Given the description of an element on the screen output the (x, y) to click on. 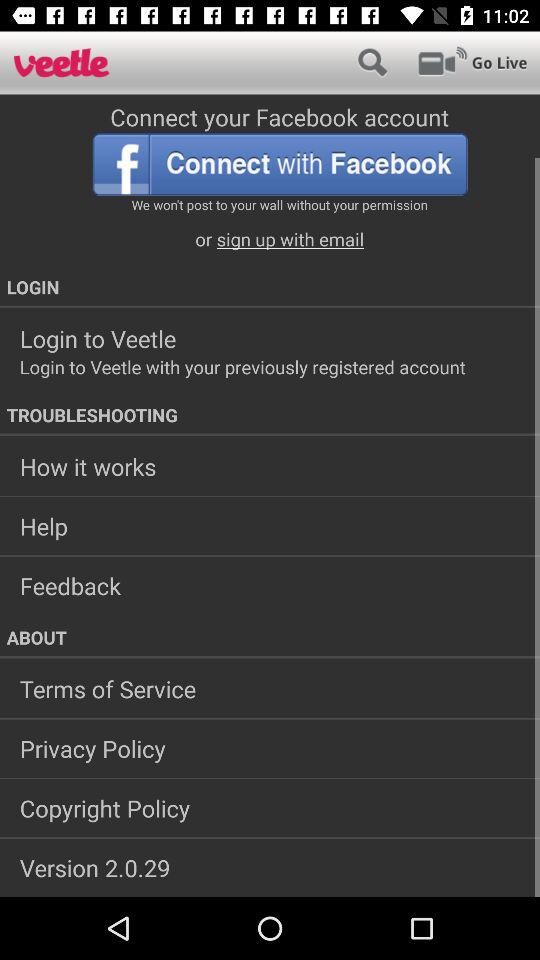
open the app below terms of service (270, 748)
